Given the description of an element on the screen output the (x, y) to click on. 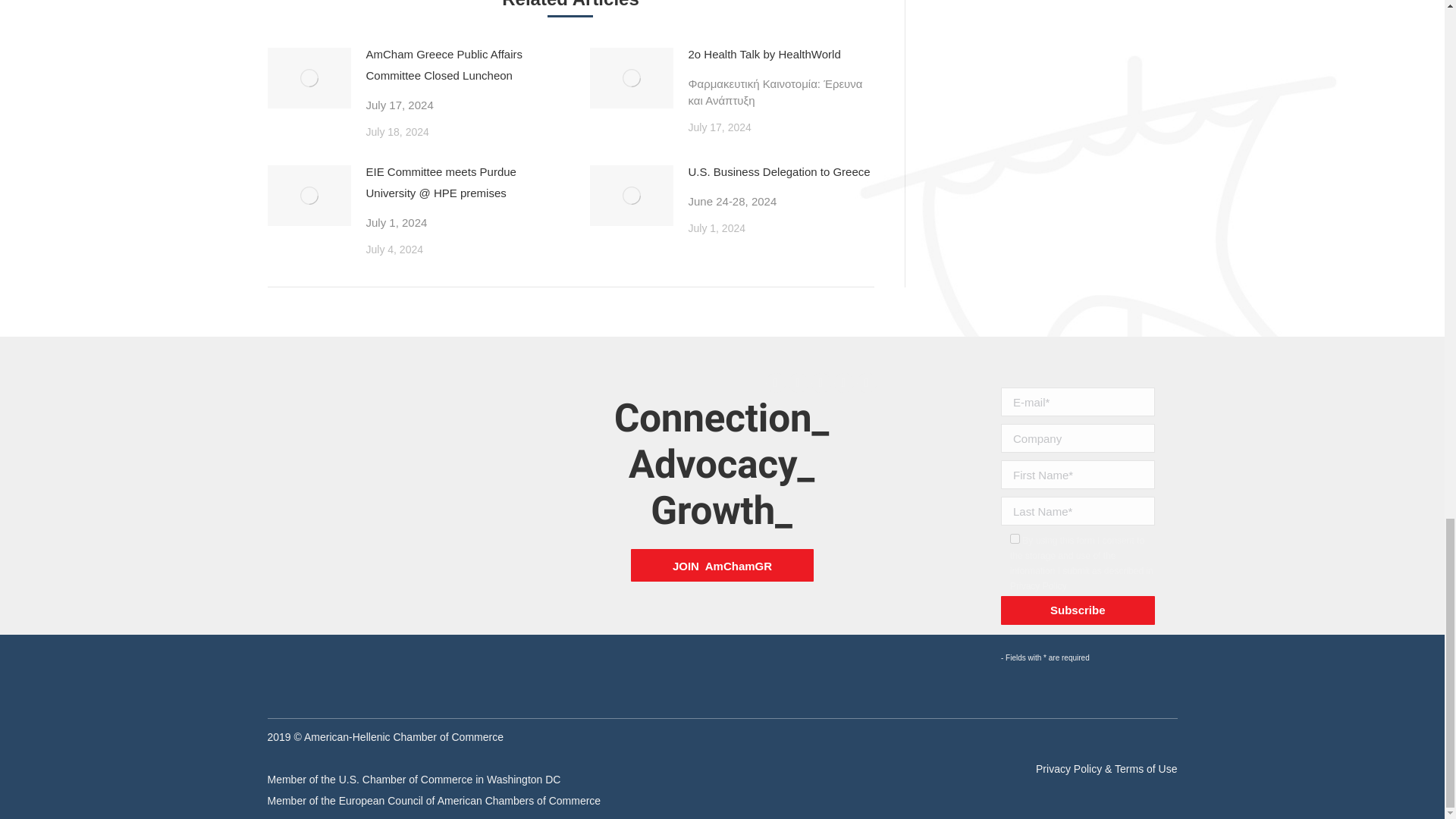
Subscribe (1077, 610)
1 (1015, 538)
